Given the description of an element on the screen output the (x, y) to click on. 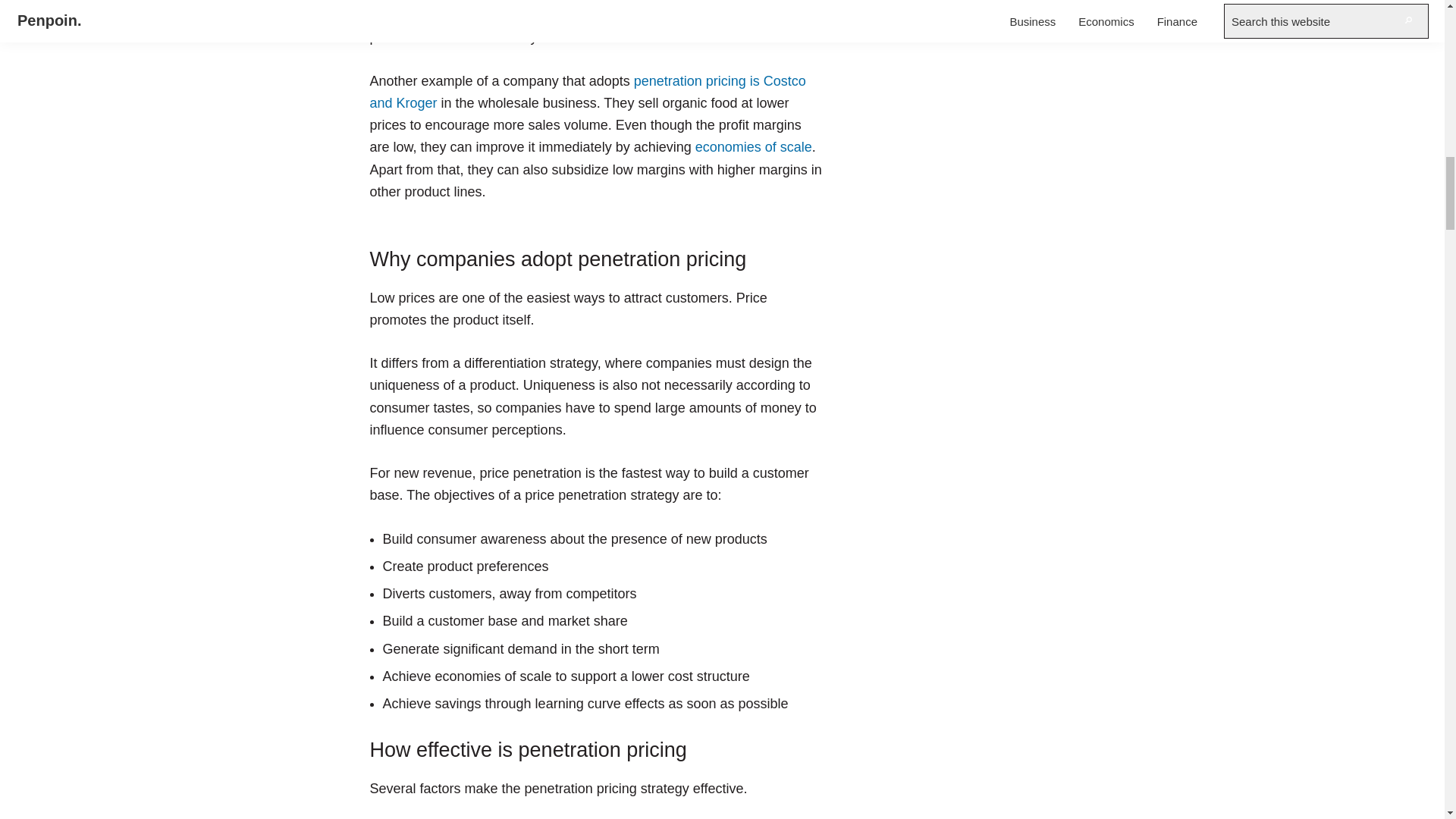
economies of scale (753, 146)
penetration pricing is Costco and Kroger (587, 91)
